Given the description of an element on the screen output the (x, y) to click on. 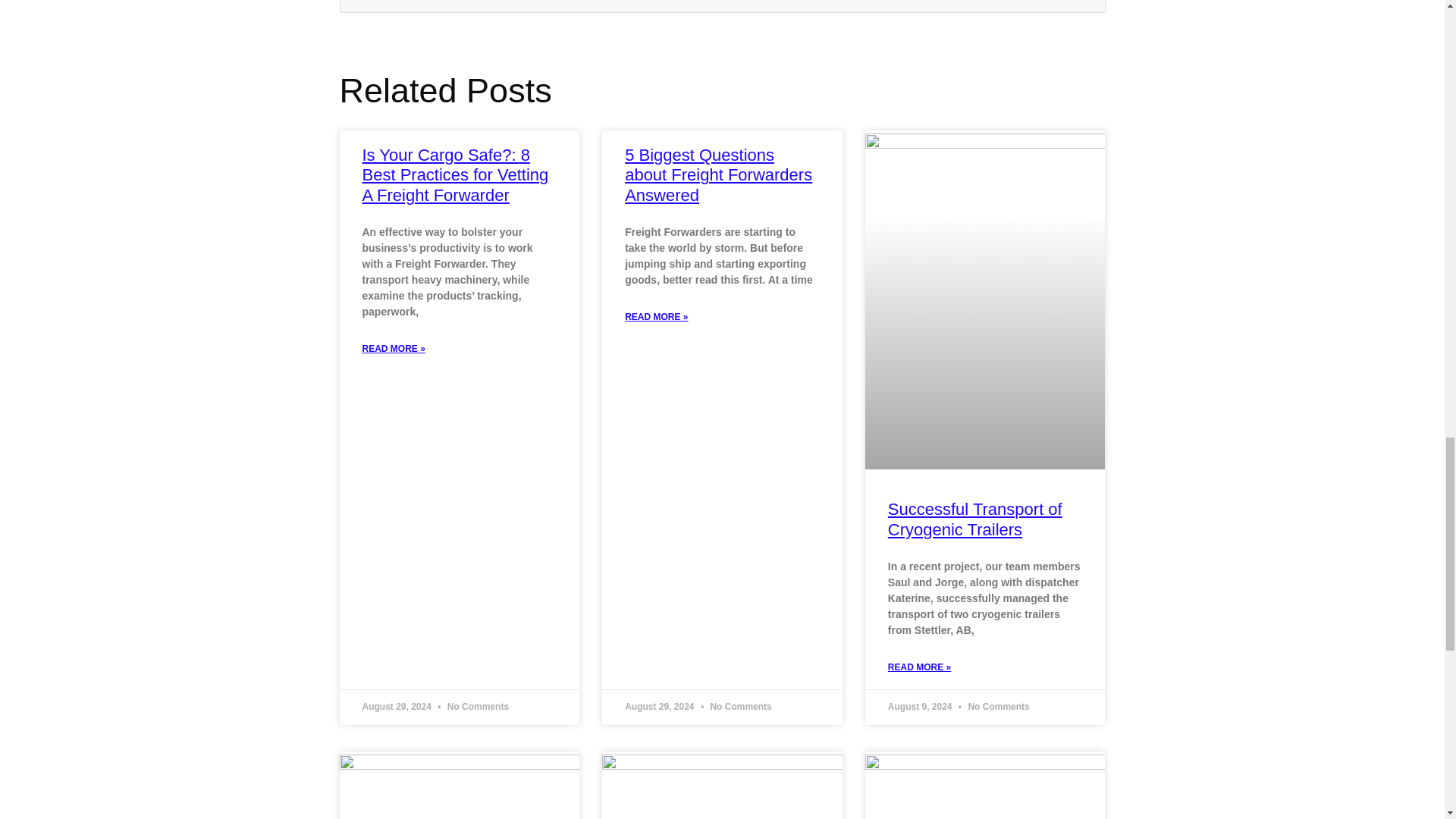
Successful Transport of Cryogenic Trailers (975, 518)
5 Biggest Questions about Freight Forwarders Answered (718, 174)
